Given the description of an element on the screen output the (x, y) to click on. 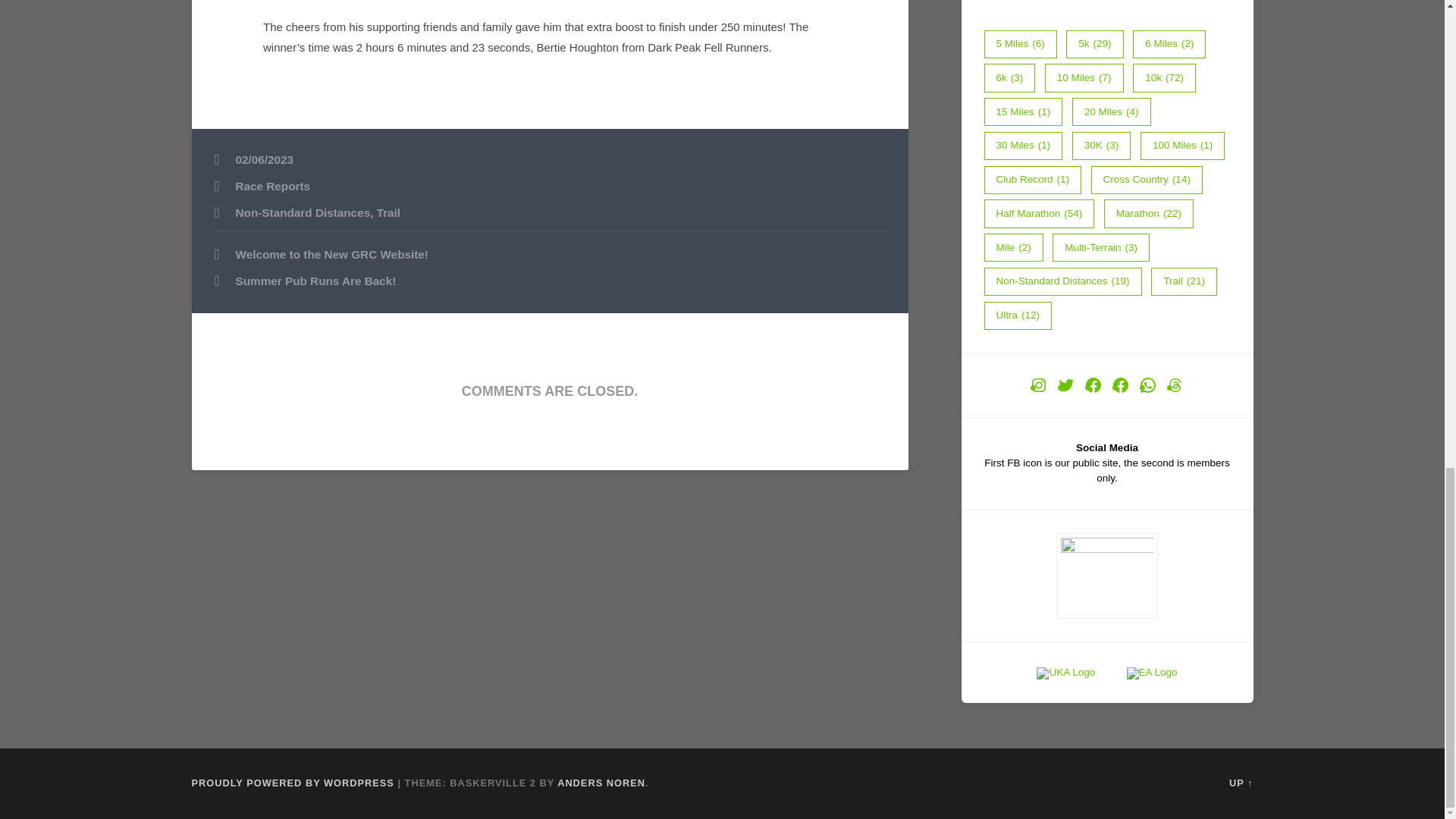
Trail (388, 212)
Summer Pub Runs Are Back! (549, 281)
To the top (1240, 782)
Race Reports (272, 185)
Non-Standard Distances (301, 212)
Welcome to the New GRC Website! (549, 254)
